Given the description of an element on the screen output the (x, y) to click on. 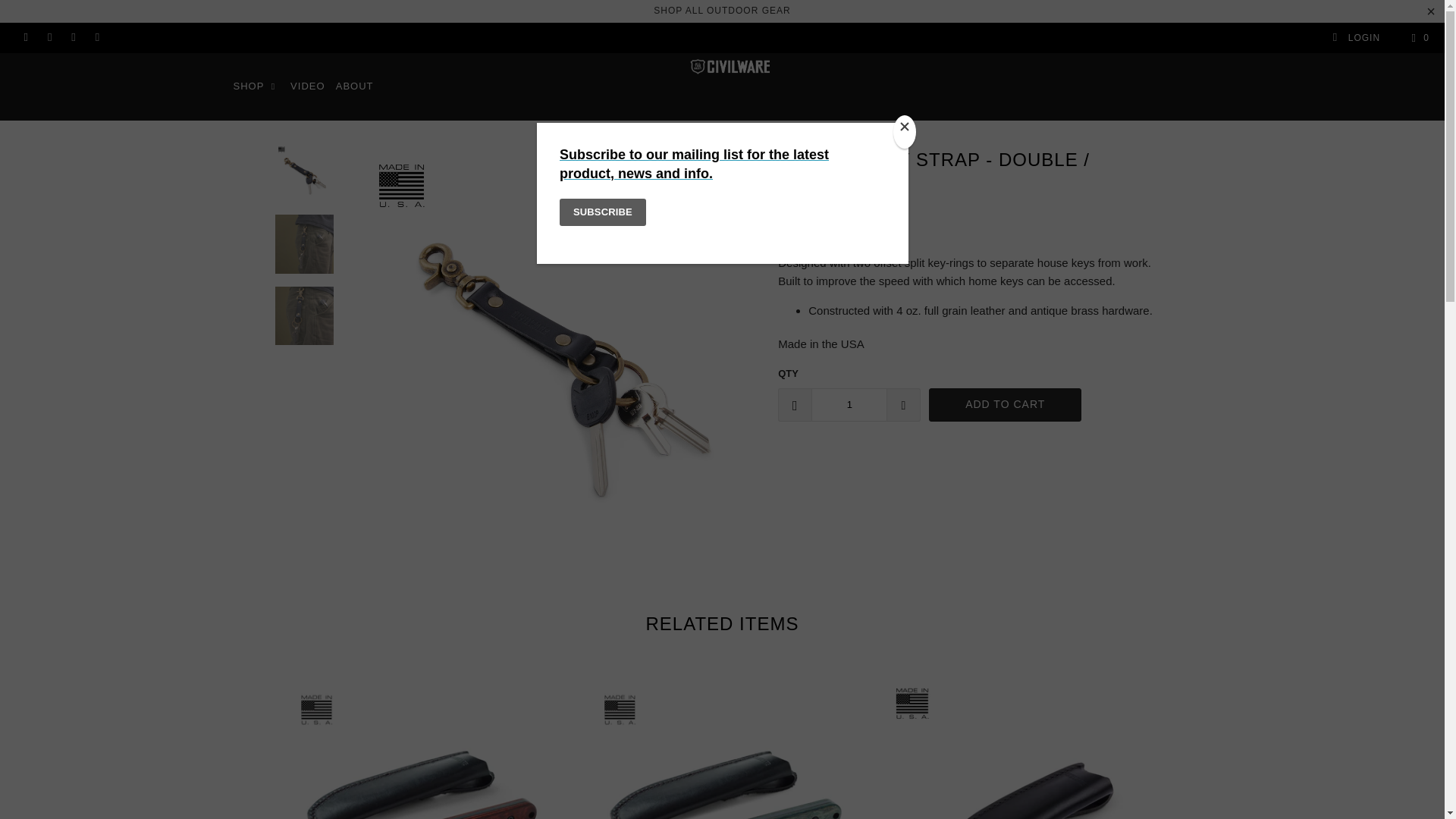
VIDEO (306, 86)
SHOP ALL OUTDOOR GEAR (721, 9)
1 (848, 404)
SHOP (255, 85)
ABOUT (355, 86)
LOGIN (1355, 37)
My Account  (1355, 37)
